Given the description of an element on the screen output the (x, y) to click on. 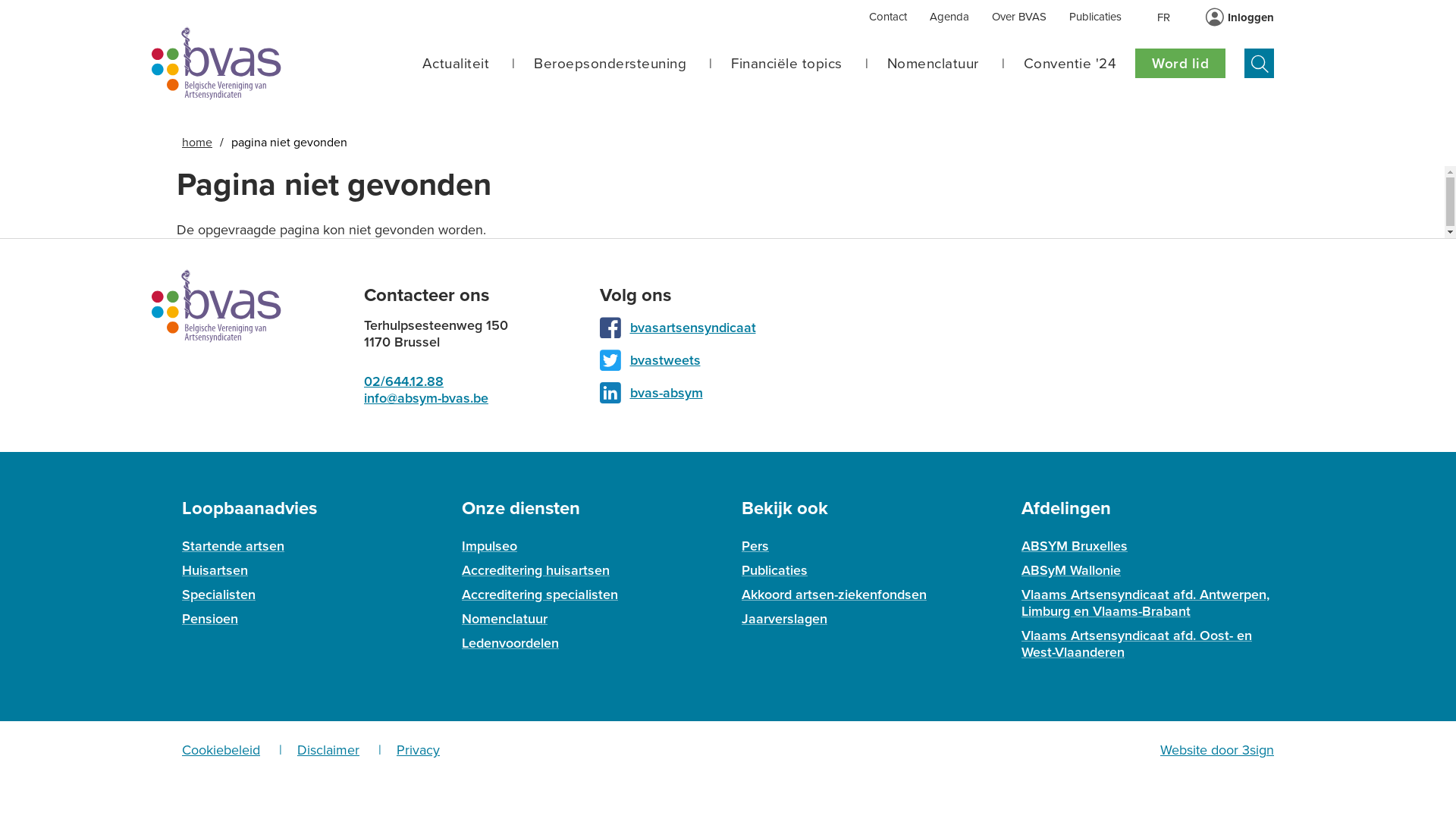
Nomenclatuur Element type: text (933, 63)
info@absym-bvas.be Element type: text (426, 397)
Publicaties Element type: text (774, 570)
Over BVAS Element type: text (1018, 17)
ABSYM Bruxelles Element type: text (1074, 545)
Nomenclatuur Element type: text (504, 618)
Pensioen Element type: text (210, 618)
Disclaimer Element type: text (328, 749)
Overslaan en naar de inhoud gaan Element type: text (0, 7)
bvas-absym Element type: text (665, 392)
Conventie '24 Element type: text (1070, 63)
Actualiteit Element type: text (455, 63)
Accreditering huisartsen Element type: text (535, 570)
ABSyM Wallonie Element type: text (1070, 570)
home Element type: text (197, 142)
Specialisten Element type: text (218, 594)
Huisartsen Element type: text (214, 570)
Zoeken Element type: text (1259, 63)
Contact Element type: text (887, 17)
bvasartsensyndicaat Element type: text (692, 327)
Agenda Element type: text (949, 17)
Jaarverslagen Element type: text (784, 618)
bvastweets Element type: text (664, 360)
Beroepsondersteuning Element type: text (609, 63)
FR Element type: text (1162, 17)
Pers Element type: text (754, 545)
Publicaties Element type: text (1095, 17)
Akkoord artsen-ziekenfondsen Element type: text (833, 594)
02/644.12.88 Element type: text (403, 381)
Accreditering specialisten Element type: text (539, 594)
Impulseo Element type: text (489, 545)
Inloggen Element type: text (1250, 17)
Website door 3sign Element type: text (1217, 749)
Vlaams Artsensyndicaat afd. Oost- en West-Vlaanderen Element type: text (1136, 643)
Startende artsen Element type: text (233, 545)
Ledenvoordelen Element type: text (509, 642)
Word lid Element type: text (1180, 63)
Privacy Element type: text (417, 749)
Cookiebeleid Element type: text (221, 749)
